Given the description of an element on the screen output the (x, y) to click on. 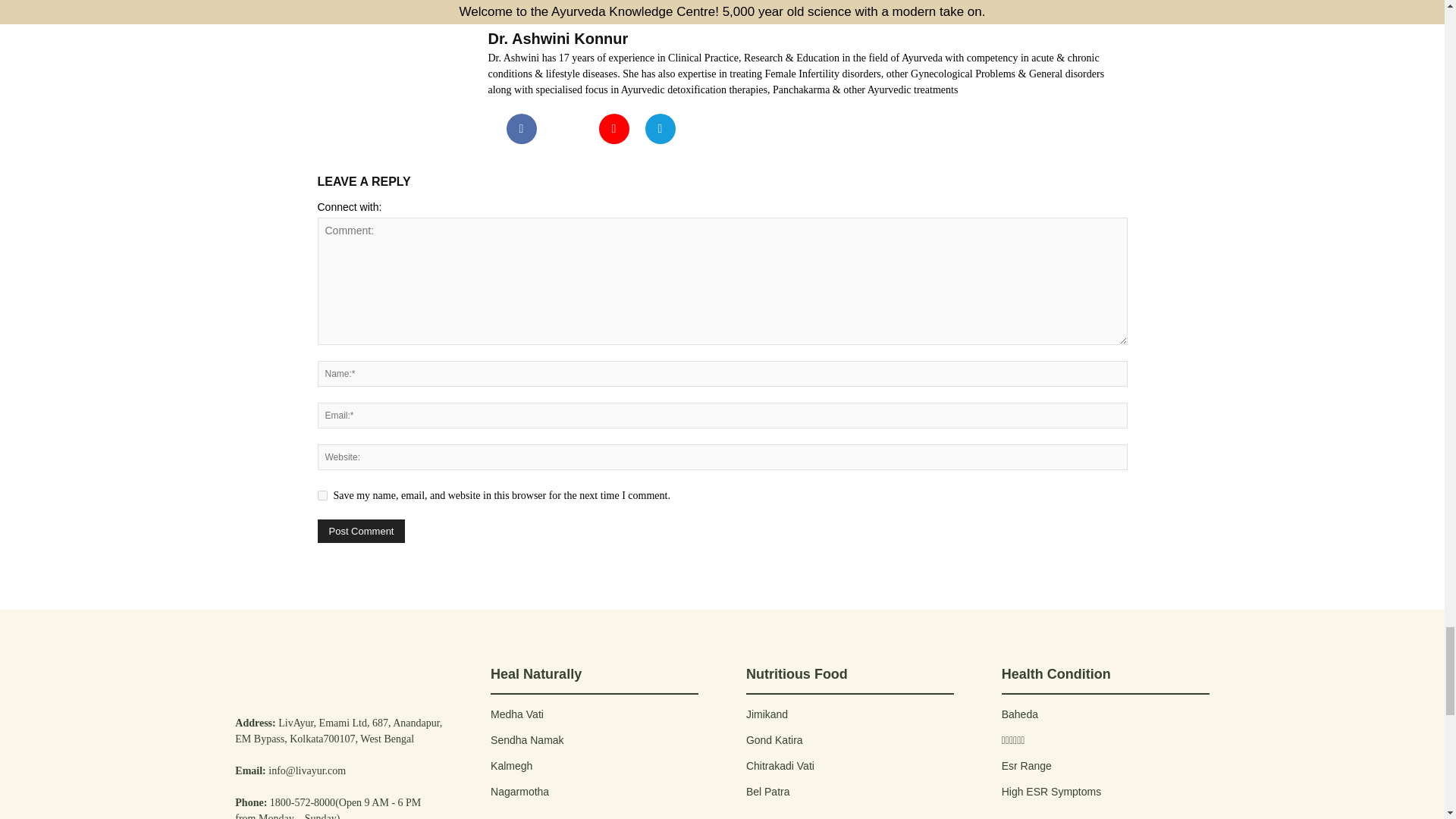
yes (321, 494)
Post Comment (360, 530)
